Given the description of an element on the screen output the (x, y) to click on. 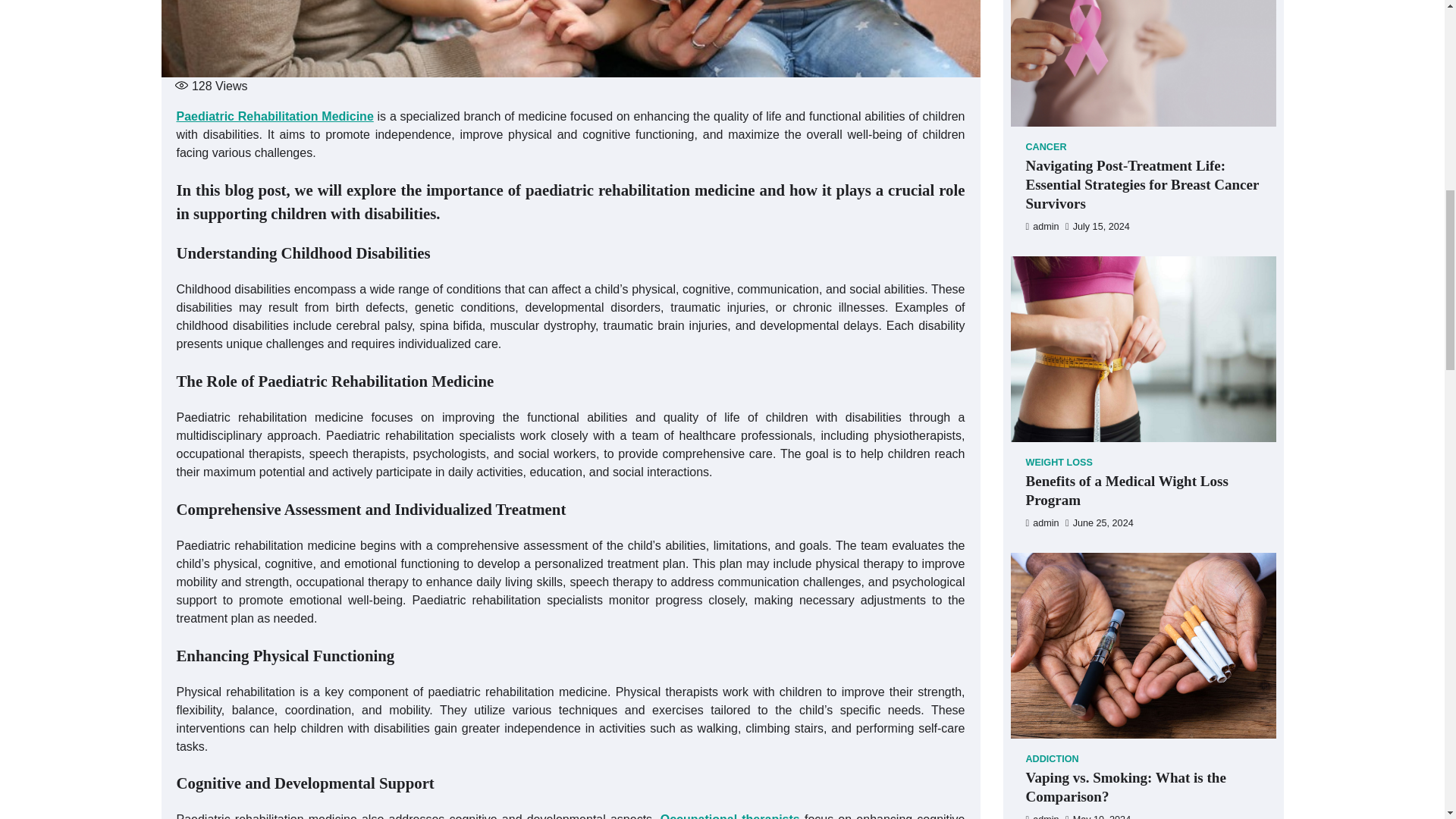
Paediatric Rehabilitation Medicine (274, 115)
Occupational therapists (730, 816)
